Given the description of an element on the screen output the (x, y) to click on. 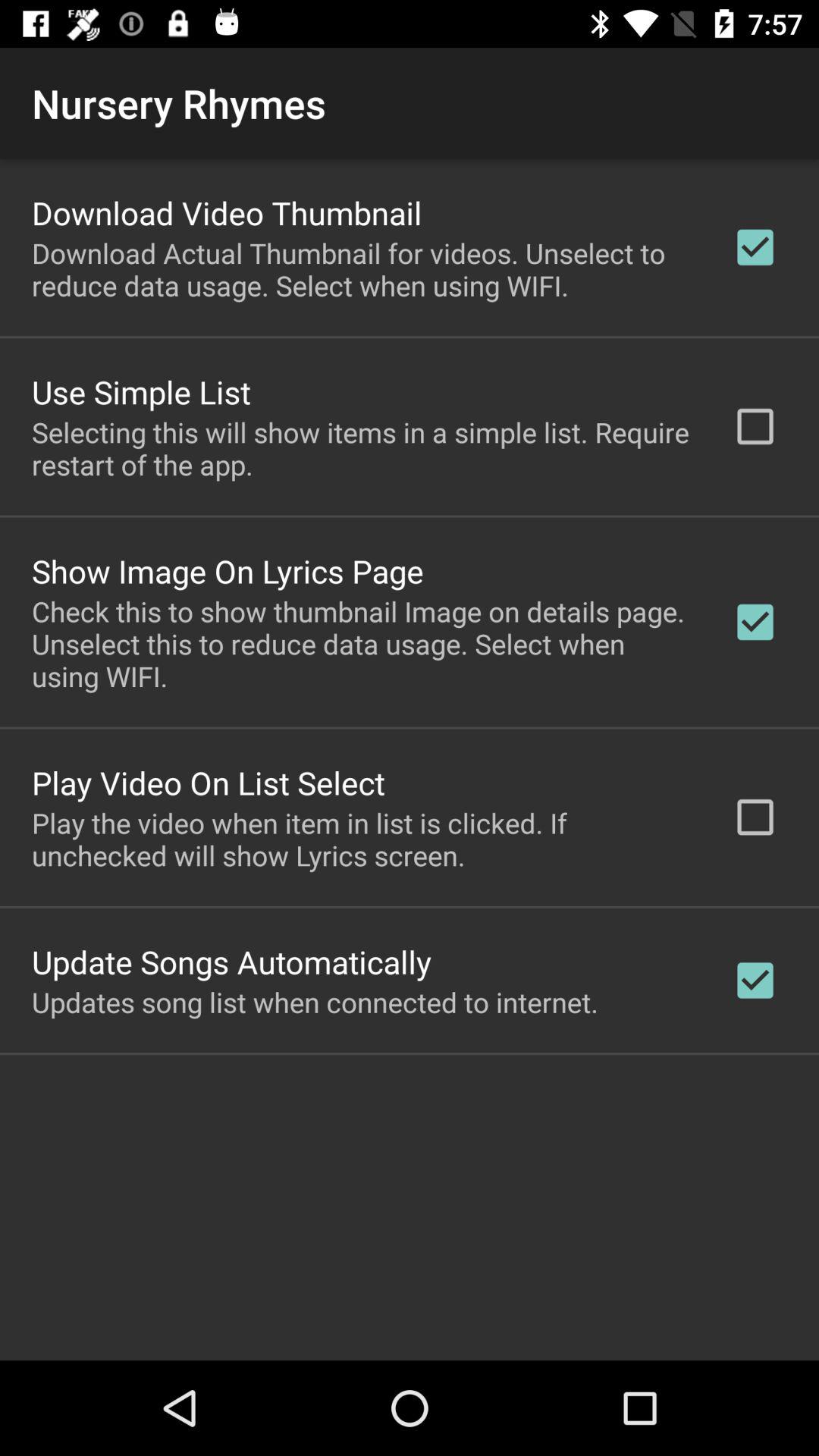
launch the app below the use simple list app (361, 448)
